Given the description of an element on the screen output the (x, y) to click on. 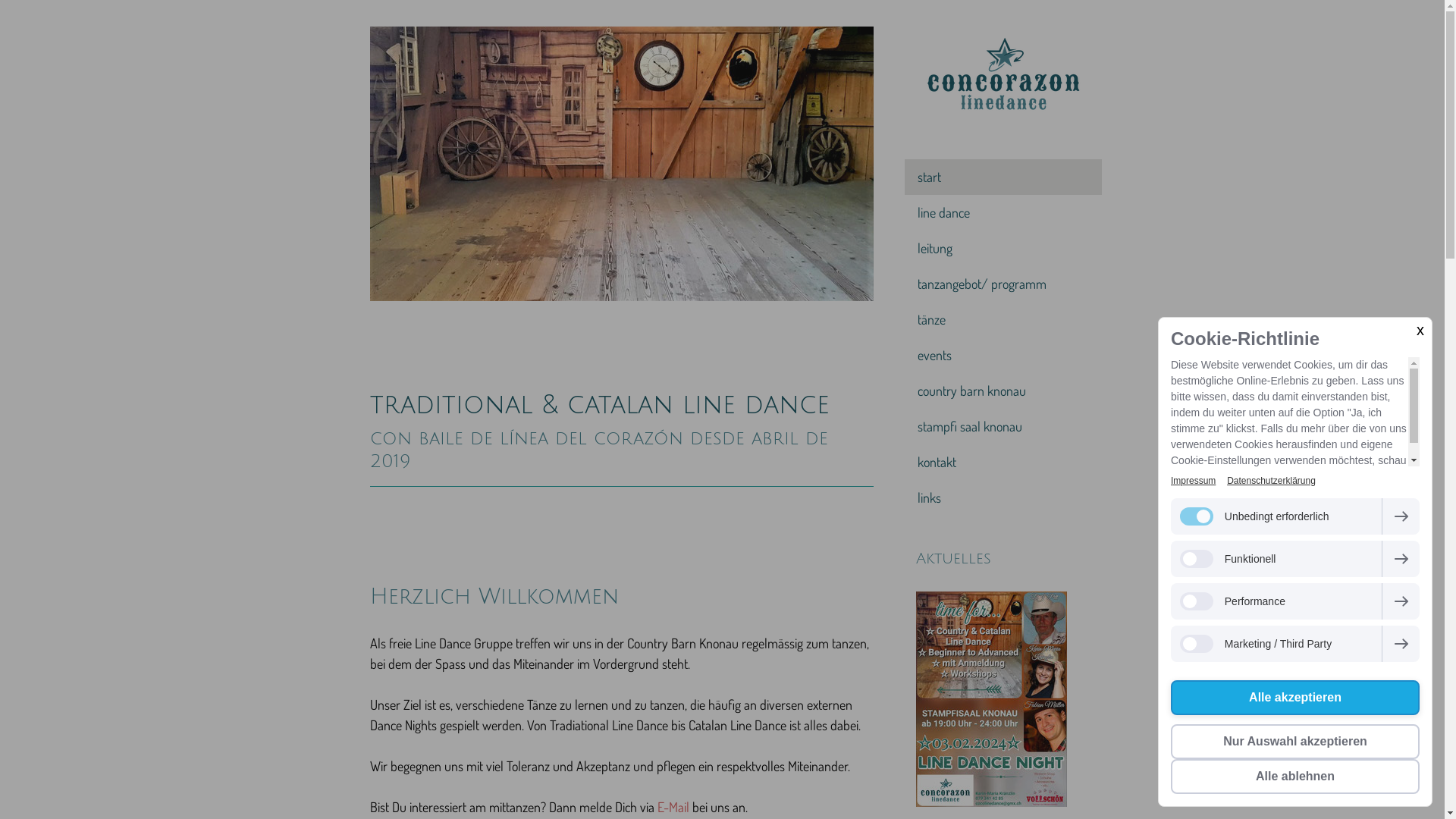
leitung Element type: text (1002, 248)
events Element type: text (1002, 355)
links Element type: text (1002, 497)
Impressum Element type: text (1192, 480)
kontakt Element type: text (1002, 462)
start Element type: text (1002, 176)
Alle ablehnen Element type: text (1294, 776)
Alle akzeptieren Element type: text (1294, 697)
line dance Element type: text (1002, 212)
Nur Auswahl akzeptieren Element type: text (1294, 741)
stampfi saal knonau Element type: text (1002, 426)
E-Mail Element type: text (672, 806)
tanzangebot/ programm Element type: text (1002, 283)
country barn knonau Element type: text (1002, 390)
